Given the description of an element on the screen output the (x, y) to click on. 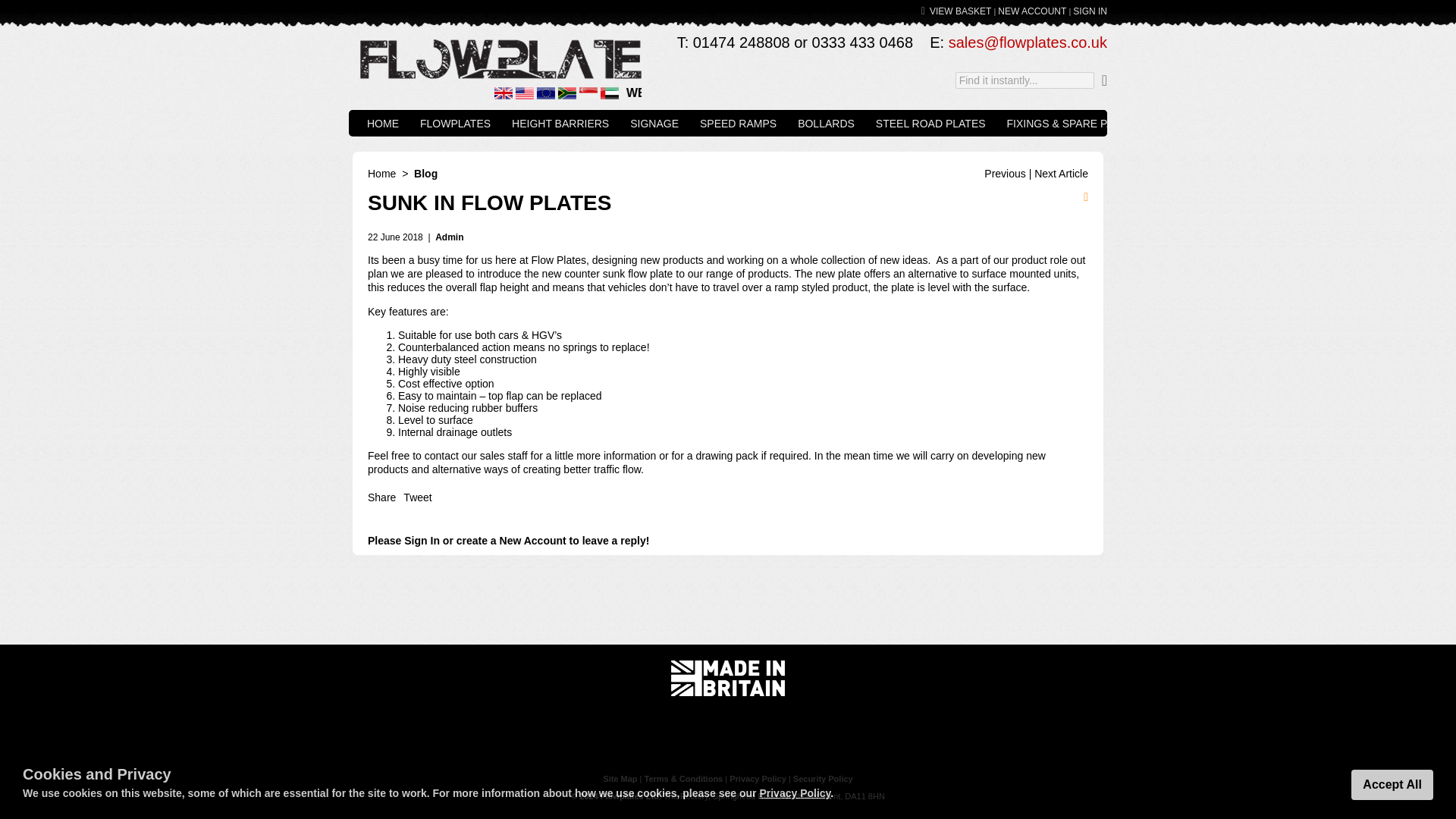
VIEW BASKET (960, 10)
Economy Flowplate (1004, 173)
New Account (532, 540)
SPEED RAMPS (738, 122)
Privacy Policy (793, 793)
Security Policy (823, 777)
Tweet (416, 497)
Share (382, 497)
NEW ACCOUNT (1031, 10)
Privacy Policy (757, 777)
